Given the description of an element on the screen output the (x, y) to click on. 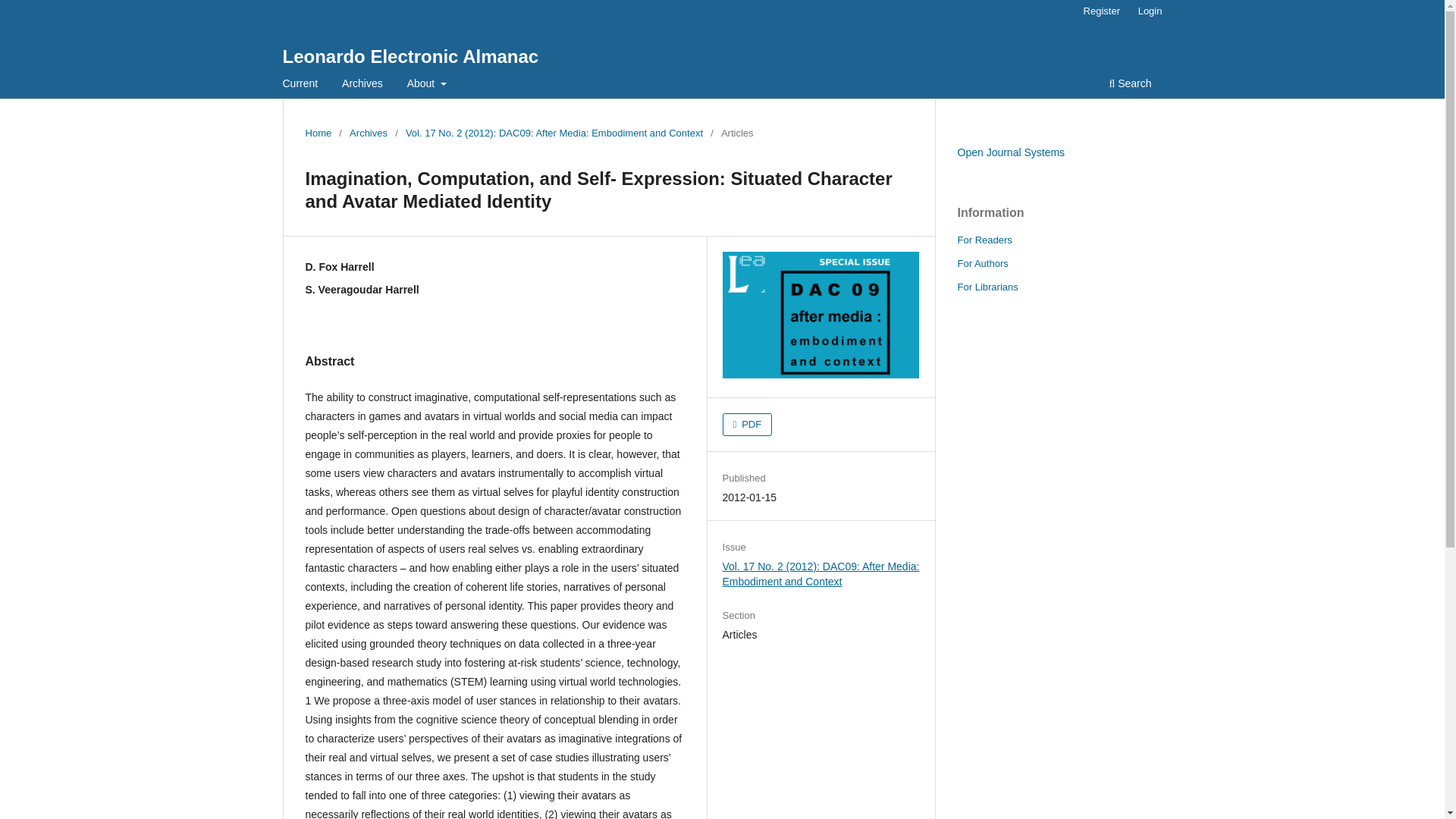
For Authors (981, 263)
Login (1150, 11)
Home (317, 133)
Archives (362, 85)
For Librarians (986, 286)
Search (1129, 85)
Open Journal Systems (1010, 152)
Leonardo Electronic Almanac (410, 56)
About (426, 85)
Archives (368, 133)
For Readers (983, 239)
Register (1100, 11)
Current (300, 85)
PDF (747, 424)
